Given the description of an element on the screen output the (x, y) to click on. 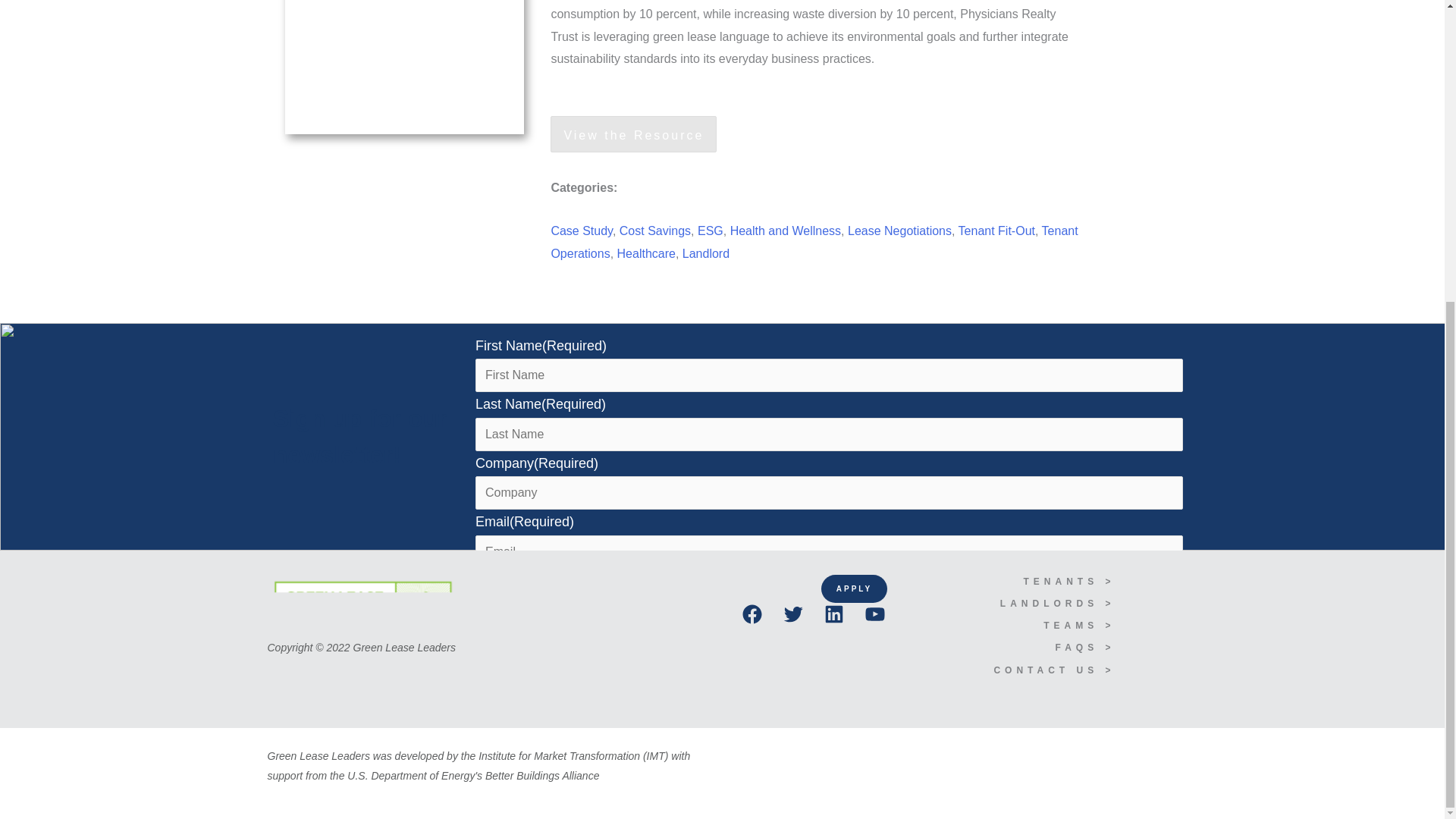
Subscribe (532, 671)
